Given the description of an element on the screen output the (x, y) to click on. 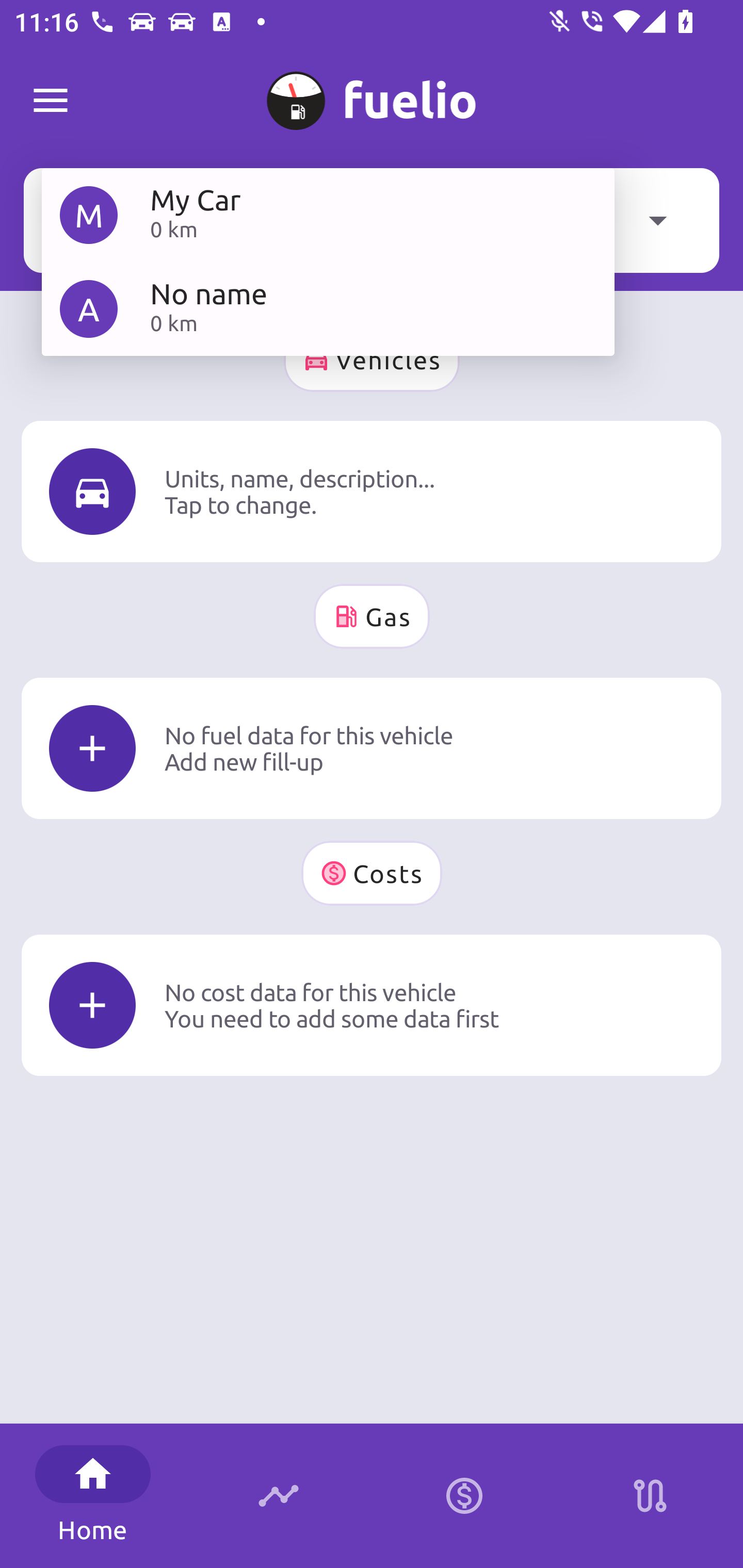
M My Car 0 km (327, 214)
A No name 0 km (327, 308)
